Given the description of an element on the screen output the (x, y) to click on. 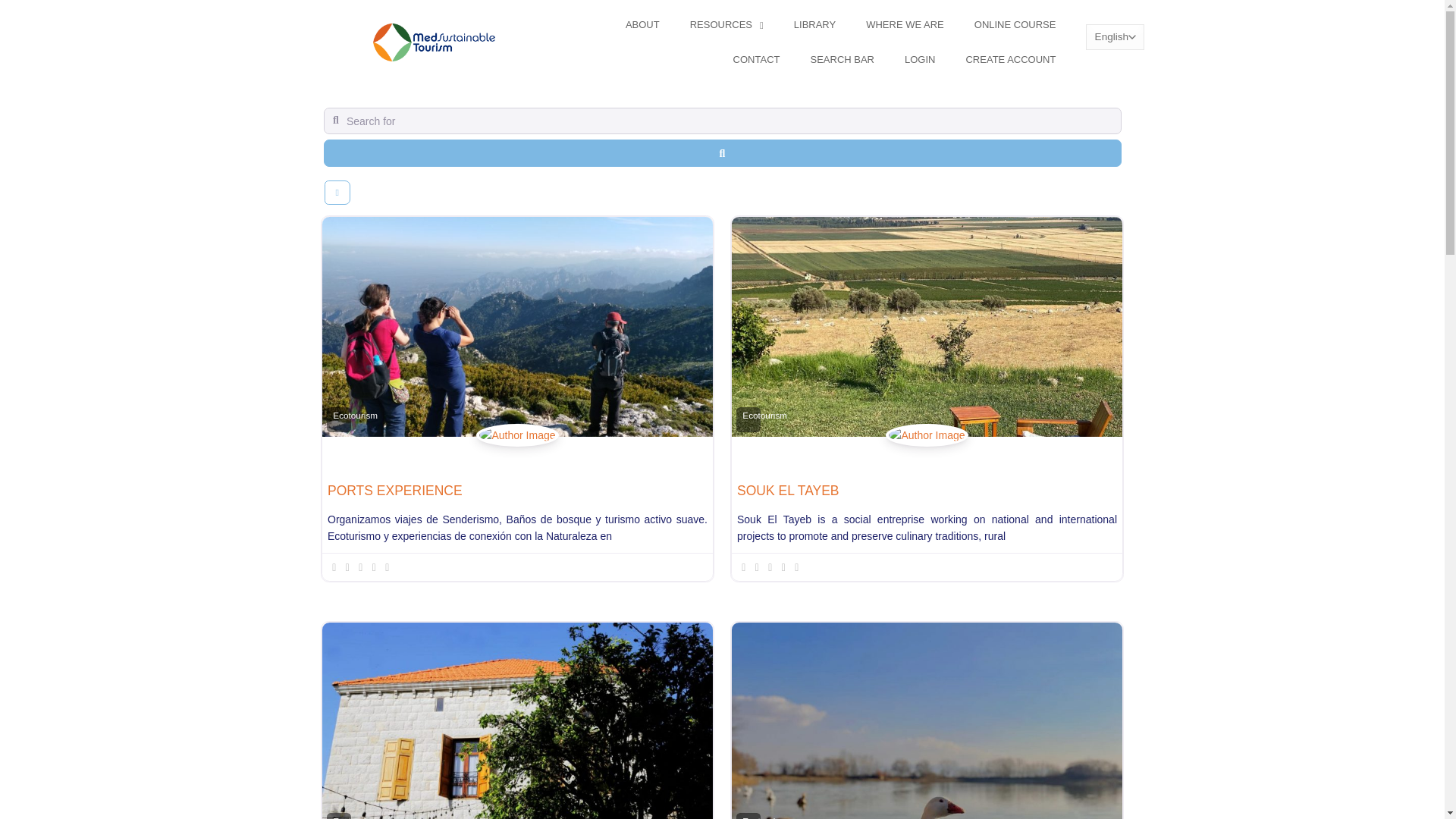
No rating yet! (360, 566)
ABOUT (642, 24)
RESOURCES (726, 24)
CREATE ACCOUNT (1010, 59)
View: PORTS EXPERIENCE (395, 490)
SEARCH BAR (841, 59)
WHERE WE ARE (904, 24)
LOGIN (919, 59)
ports-experience (516, 450)
No rating yet! (769, 566)
ONLINE COURSE (1015, 24)
apulia-slow-travel (926, 450)
CONTACT (755, 59)
LIBRARY (814, 24)
View: Souk el Tayeb (788, 490)
